Given the description of an element on the screen output the (x, y) to click on. 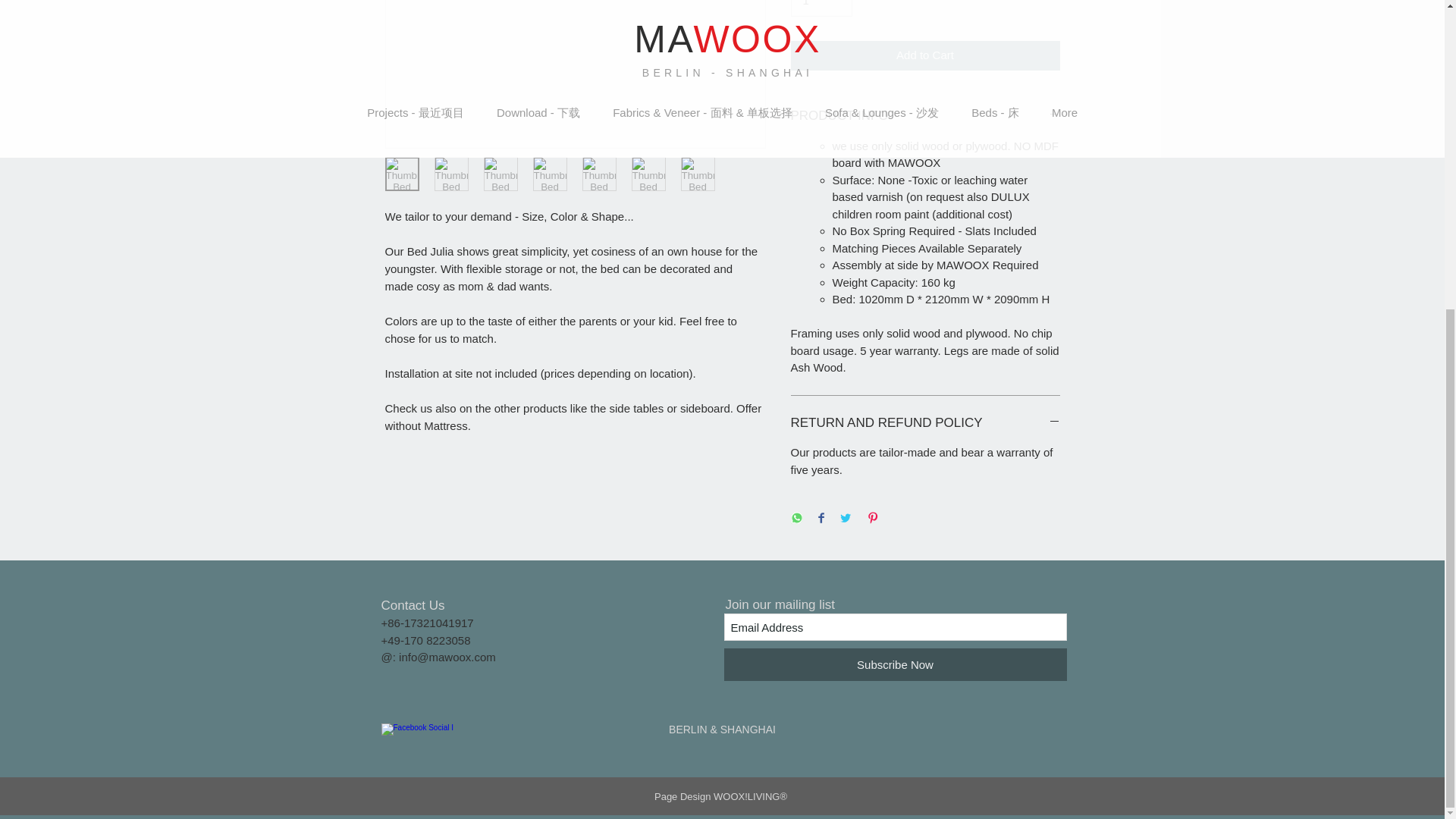
PRODUCT INFO (924, 116)
1 (820, 8)
Subscribe Now (894, 664)
Add to Cart (924, 55)
RETURN AND REFUND POLICY (924, 423)
